Given the description of an element on the screen output the (x, y) to click on. 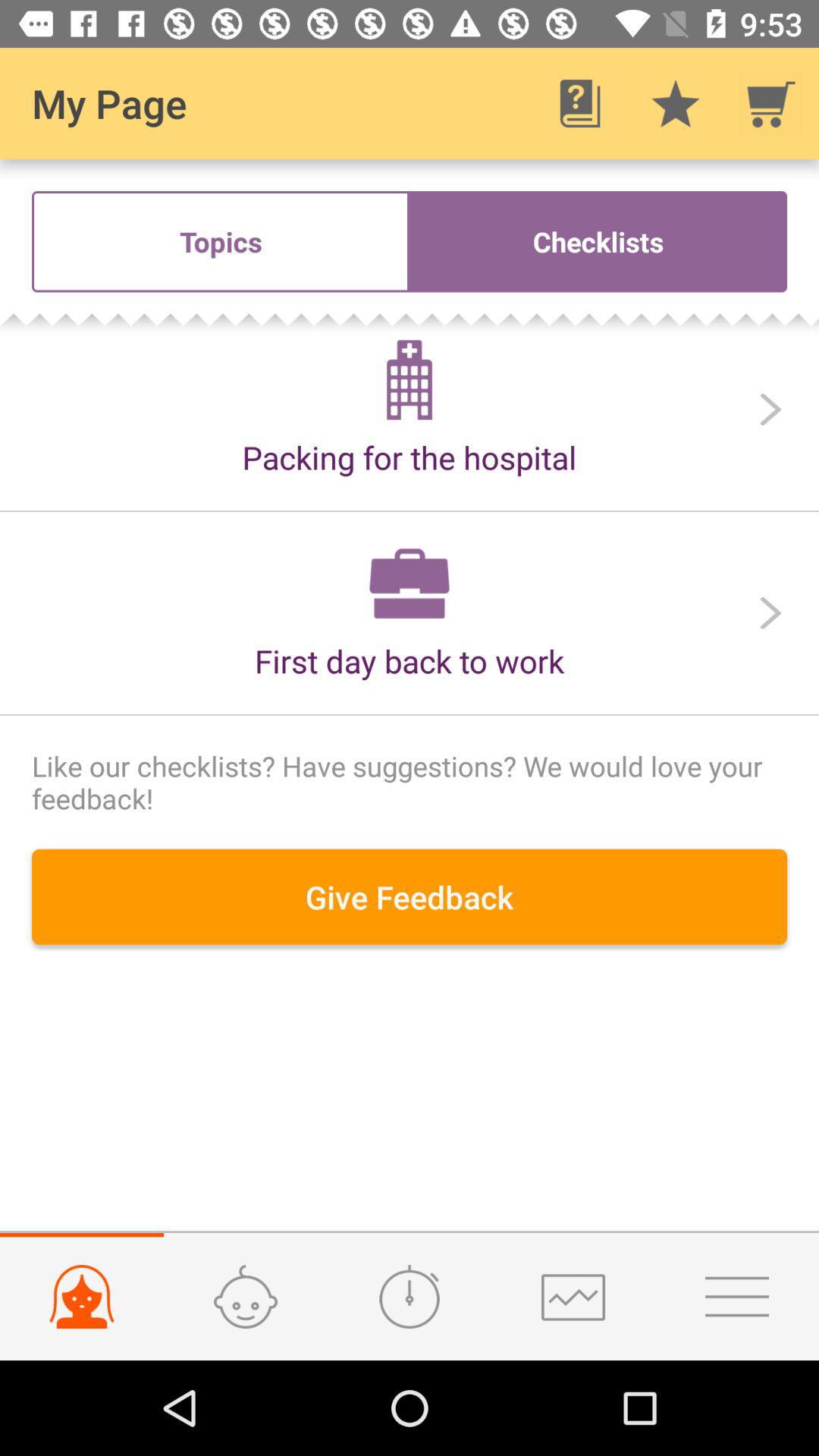
turn off the icon below like our checklists item (409, 896)
